Given the description of an element on the screen output the (x, y) to click on. 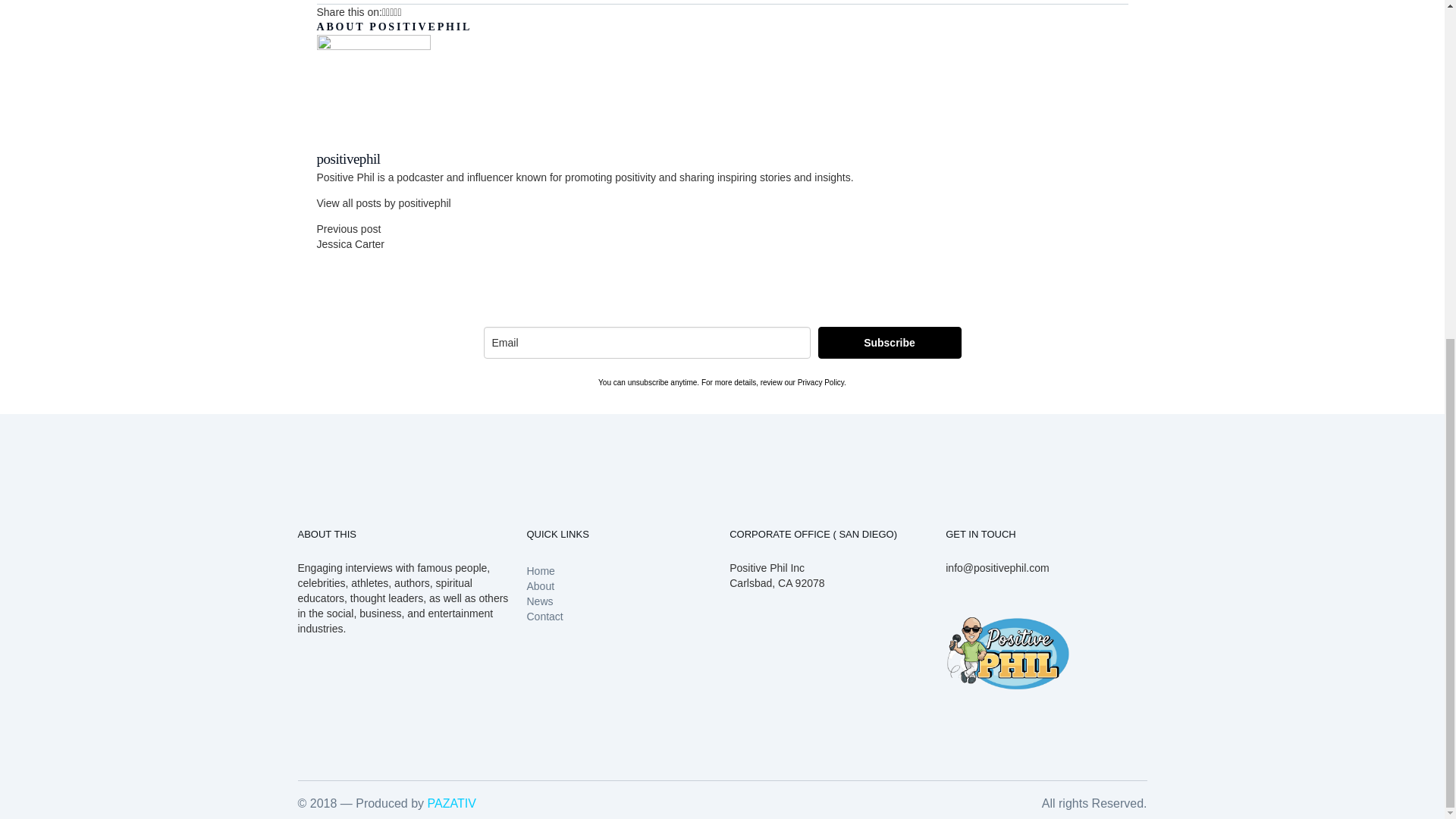
Social Share whatsapp (395, 11)
Contact (543, 616)
Home (539, 571)
PAZATIV (452, 802)
About (539, 585)
Social Share facebook (387, 11)
View all posts by positivephil (384, 203)
Subscribe (888, 342)
Social Share twitter (383, 11)
Jessica Carter (350, 244)
Social Share google (391, 11)
News (539, 601)
Social Share linkedin (399, 11)
